Given the description of an element on the screen output the (x, y) to click on. 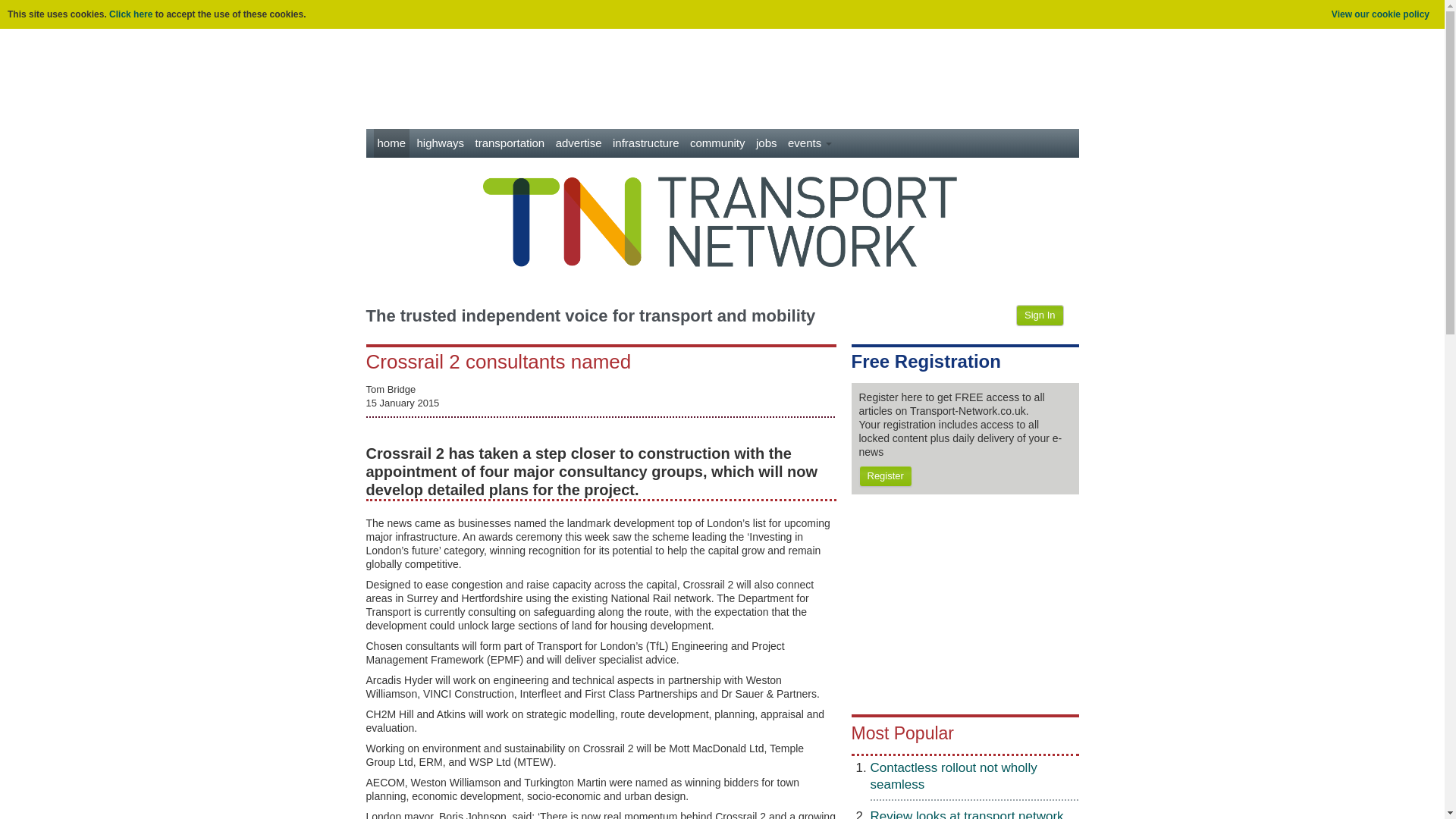
Click here (130, 14)
Contactless rollout not wholly seamless (953, 775)
home (390, 142)
community (717, 142)
events (809, 142)
Sign In (1039, 315)
transportation (509, 142)
Register (885, 476)
Review looks at transport network holistically (967, 814)
infrastructure (645, 142)
